Given the description of an element on the screen output the (x, y) to click on. 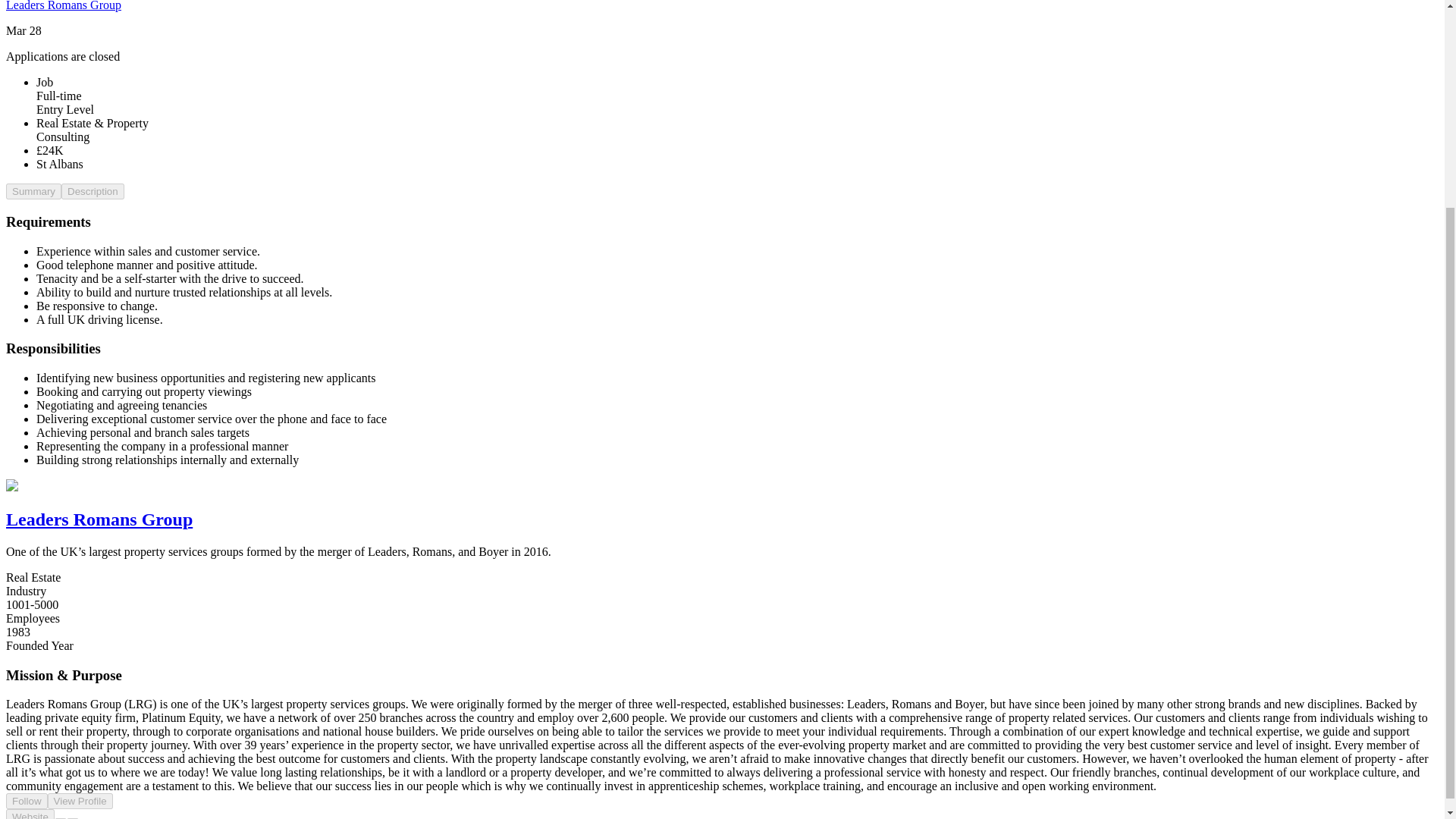
View Profile (80, 799)
Description (92, 191)
View Profile (80, 801)
Follow (26, 801)
Leaders Romans Group (62, 5)
Summary (33, 191)
